Given the description of an element on the screen output the (x, y) to click on. 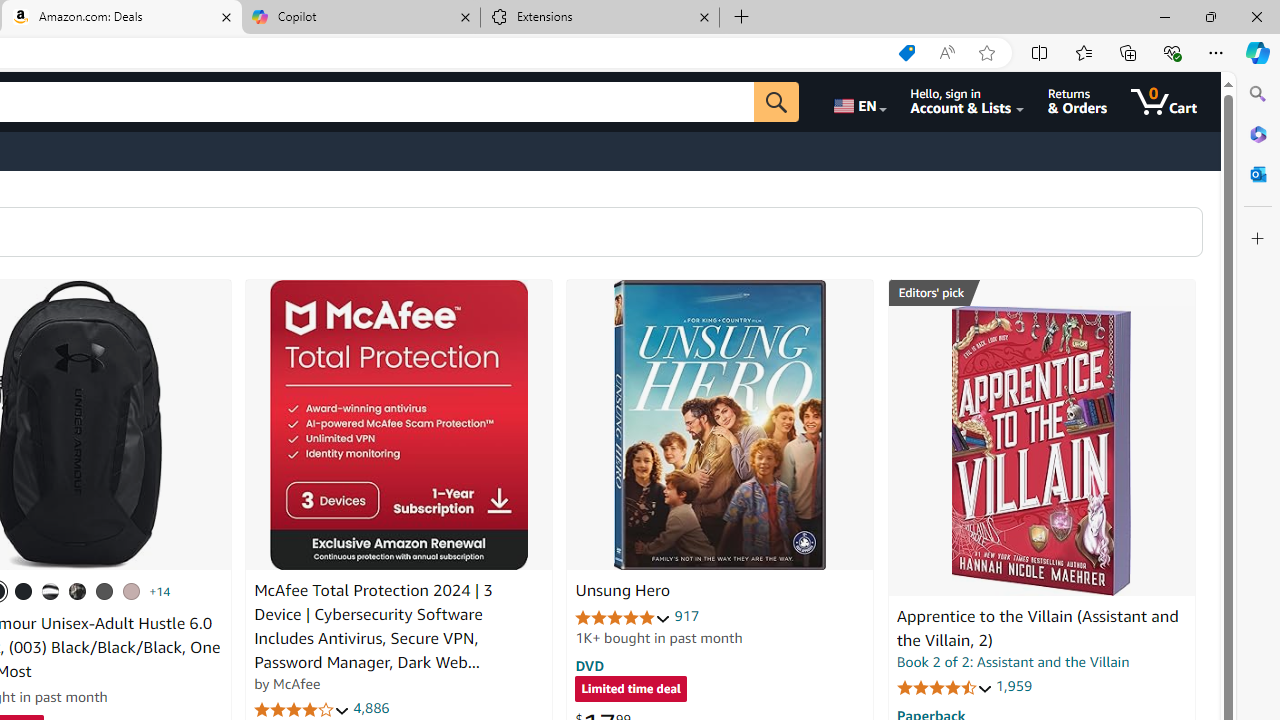
Apprentice to the Villain (Assistant and the Villain, 2) (1041, 451)
Add this page to favorites (Ctrl+D) (986, 53)
Hello, sign in Account & Lists (967, 101)
Limited time deal (630, 690)
Returns & Orders (1077, 101)
Collections (1128, 52)
Book 2 of 2: Assistant and the Villain (1013, 662)
Apprentice to the Villain (Assistant and the Villain, 2) (1037, 628)
Copilot (360, 17)
Search (1258, 94)
+14 (159, 591)
Close (1256, 16)
Close tab (704, 16)
